Given the description of an element on the screen output the (x, y) to click on. 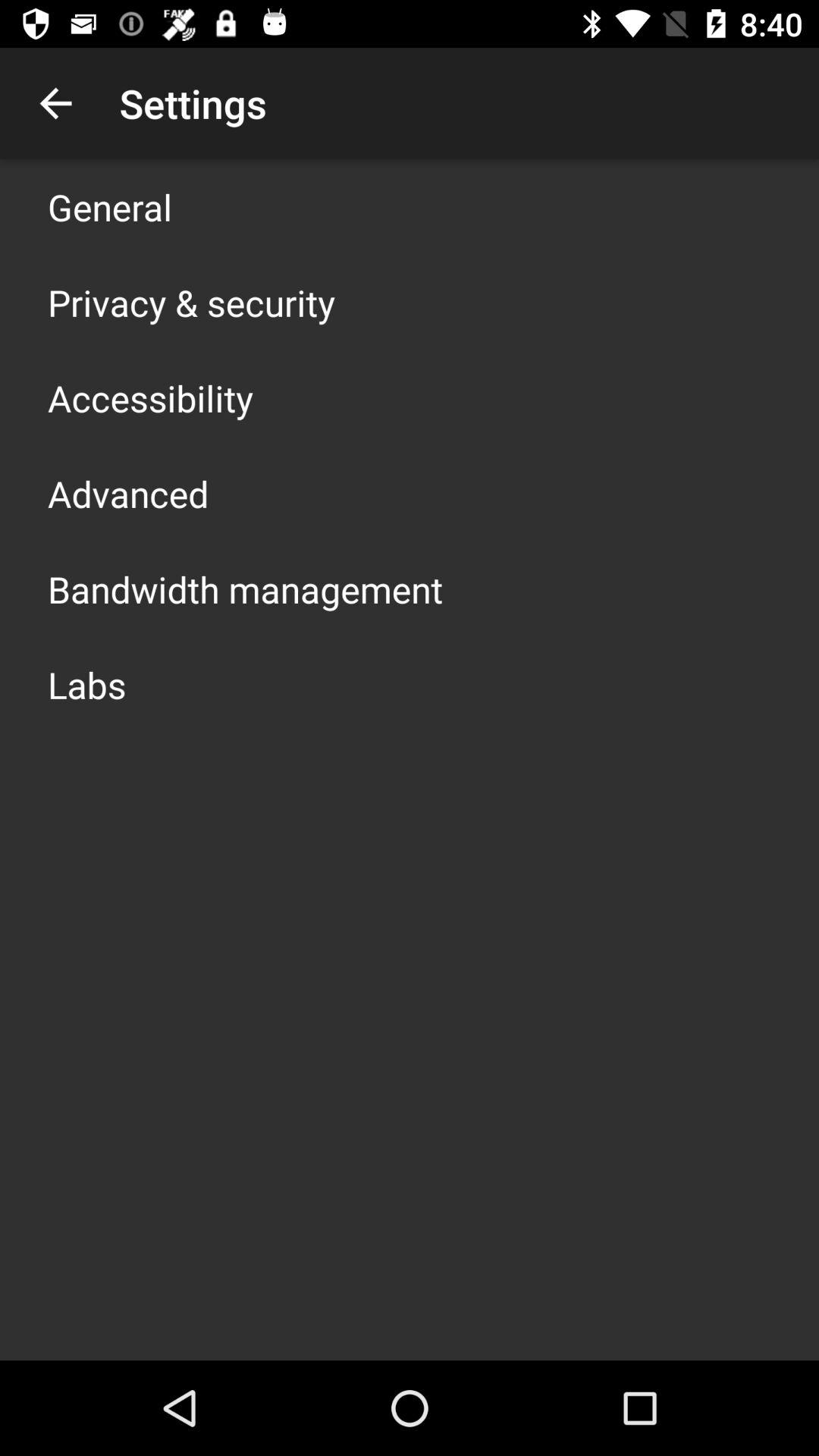
click the privacy & security (190, 302)
